Given the description of an element on the screen output the (x, y) to click on. 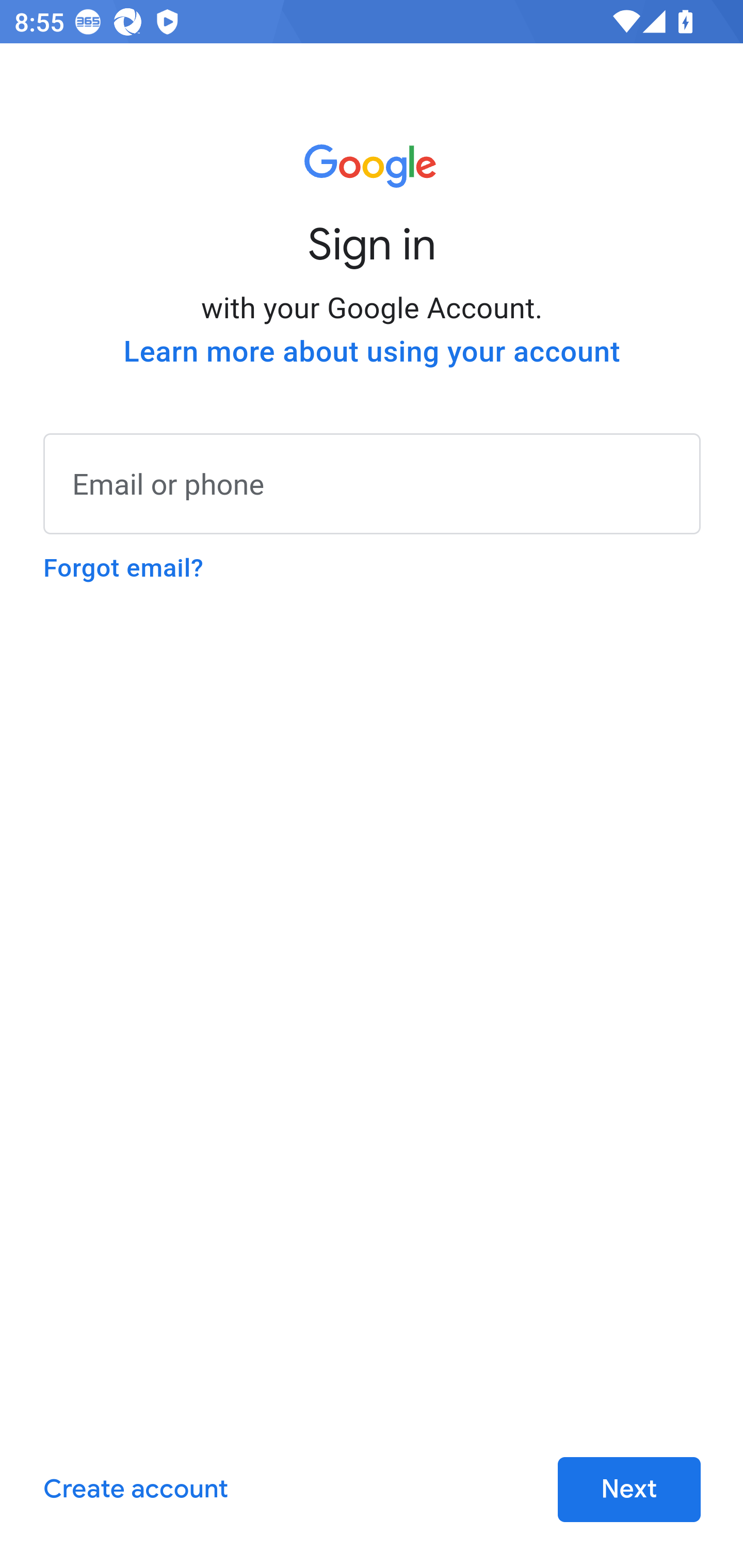
Learn more about using your account (371, 351)
Forgot email? (123, 568)
Create account (134, 1490)
Next (629, 1490)
